Given the description of an element on the screen output the (x, y) to click on. 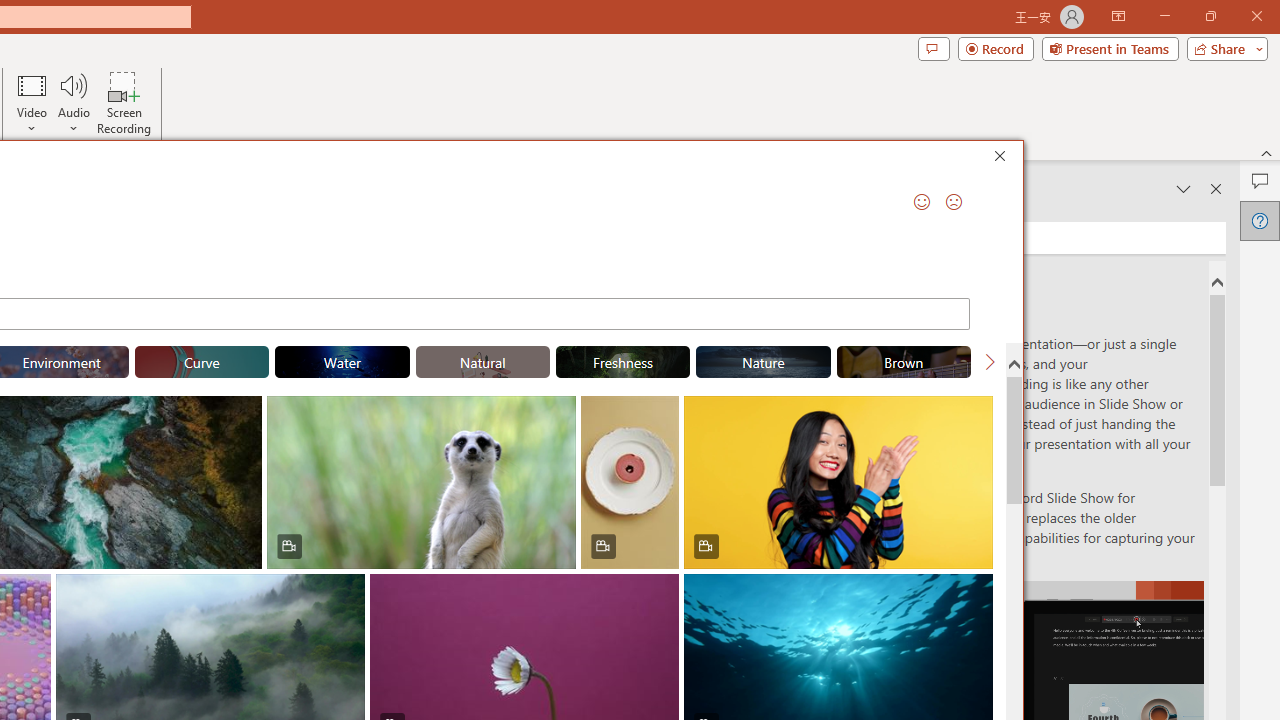
"Brown" Stock Videos. (904, 362)
Send a Frown (954, 201)
Screen Recording... (123, 102)
"Curve" Stock Videos. (201, 362)
"Natural" Stock Videos. (483, 362)
"Nature" Stock Videos. (763, 362)
